Given the description of an element on the screen output the (x, y) to click on. 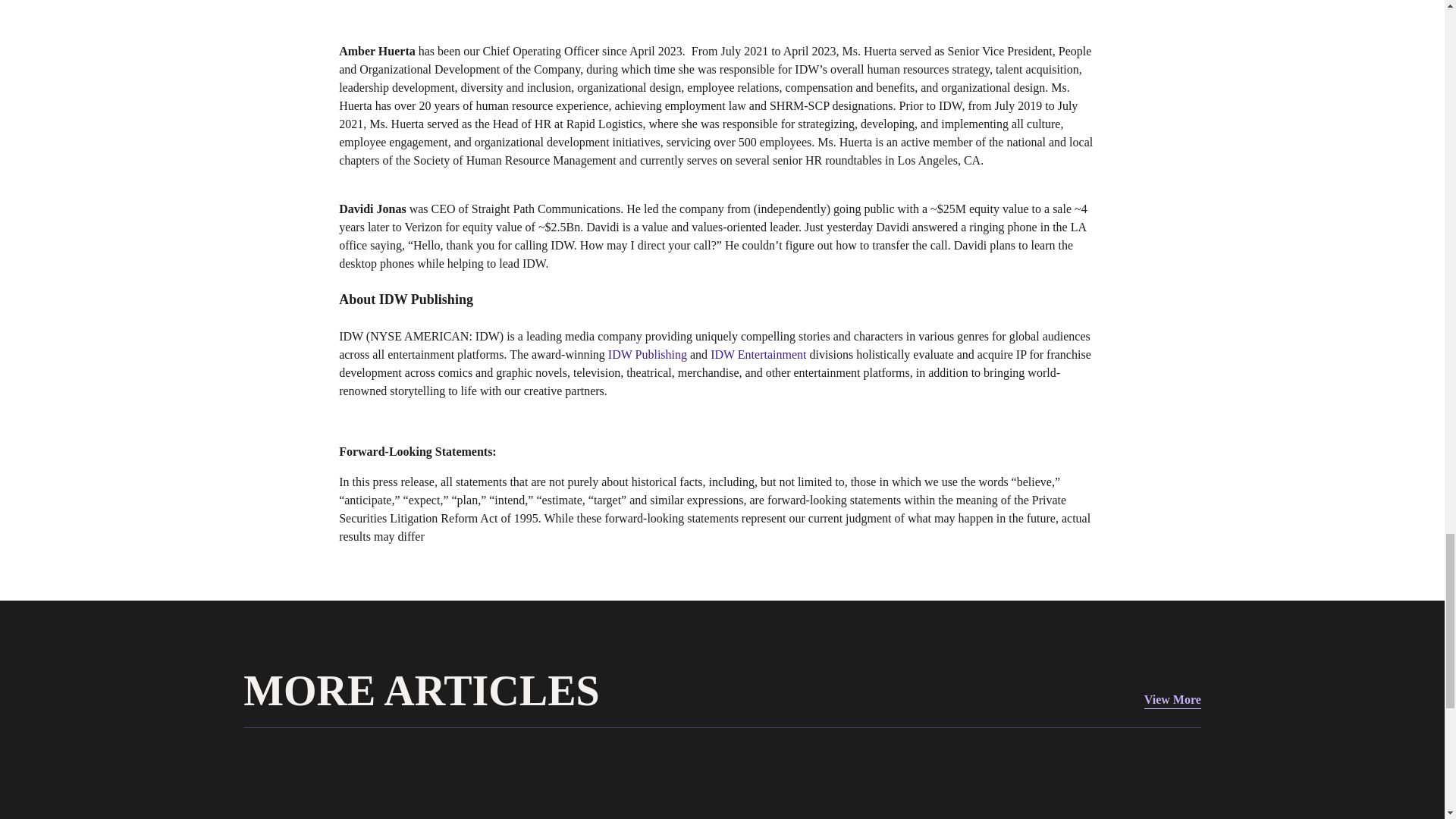
View More (1172, 701)
IDW Publishing (646, 354)
IDW Entertainment (756, 354)
